Given the description of an element on the screen output the (x, y) to click on. 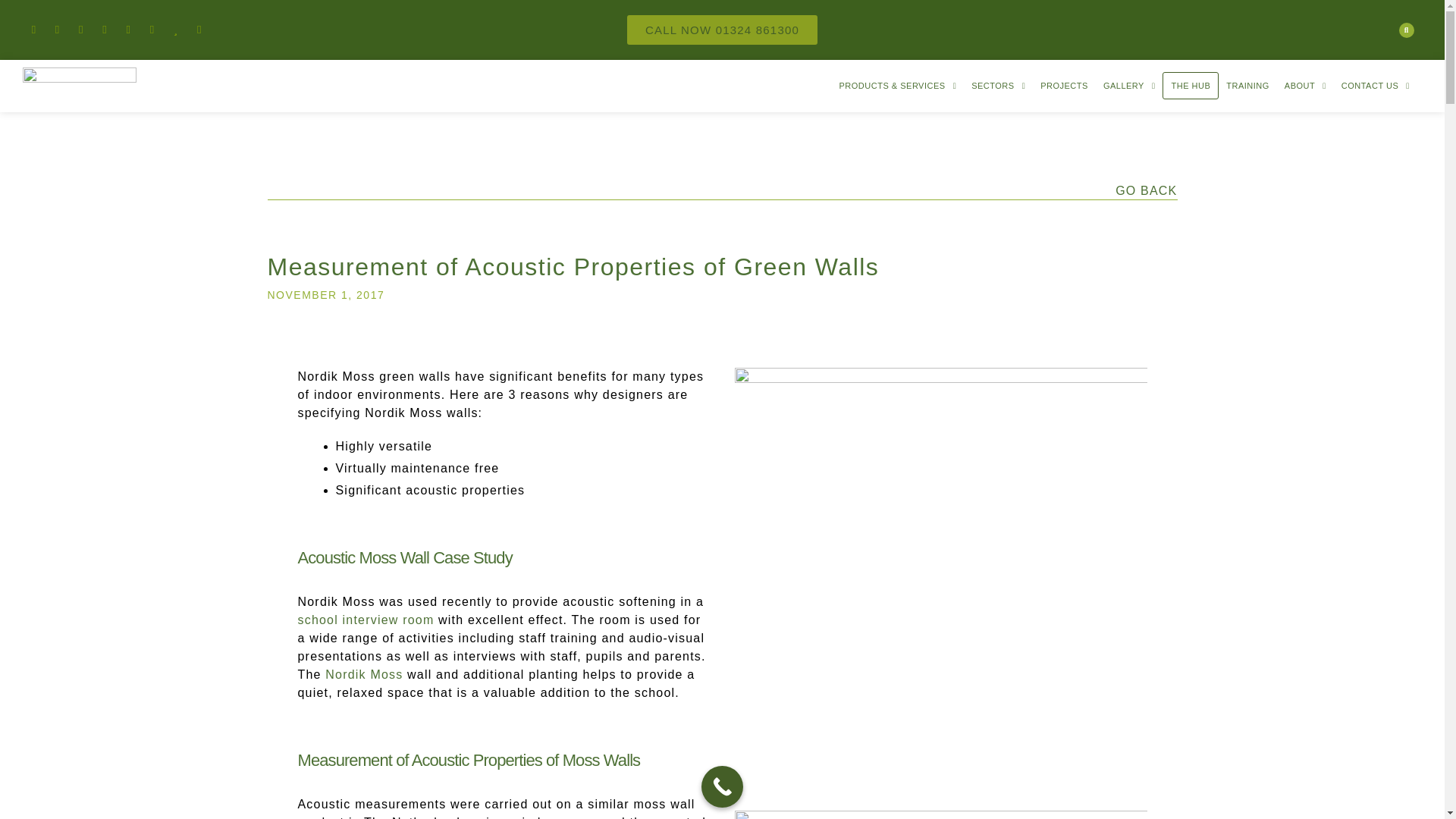
CALL NOW 01324 861300 (721, 30)
GALLERY (1129, 85)
SECTORS (998, 85)
THE HUB (1189, 85)
TRAINING (1247, 85)
PROJECTS (1064, 85)
